Given the description of an element on the screen output the (x, y) to click on. 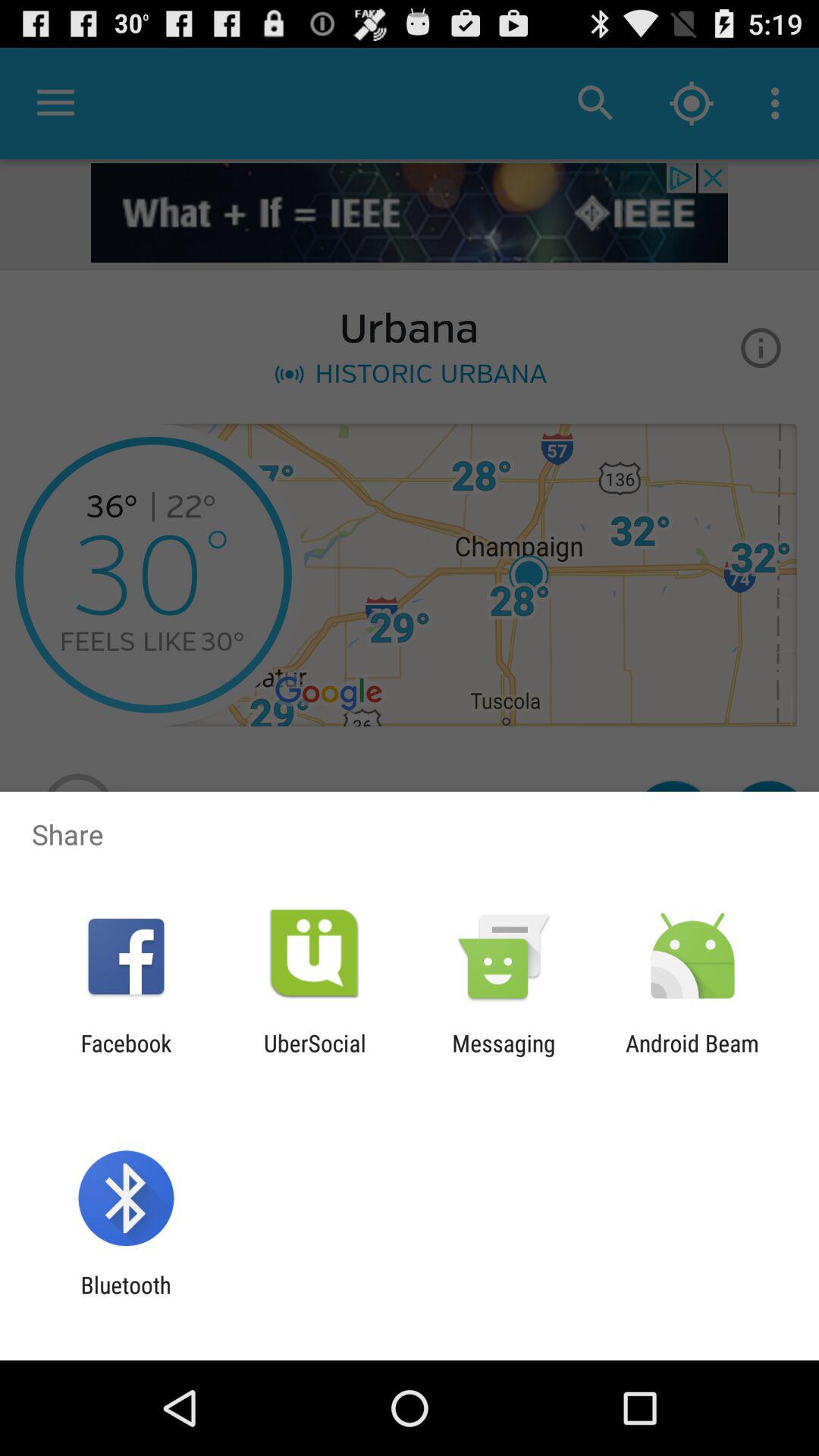
turn on the icon next to the android beam item (503, 1056)
